Given the description of an element on the screen output the (x, y) to click on. 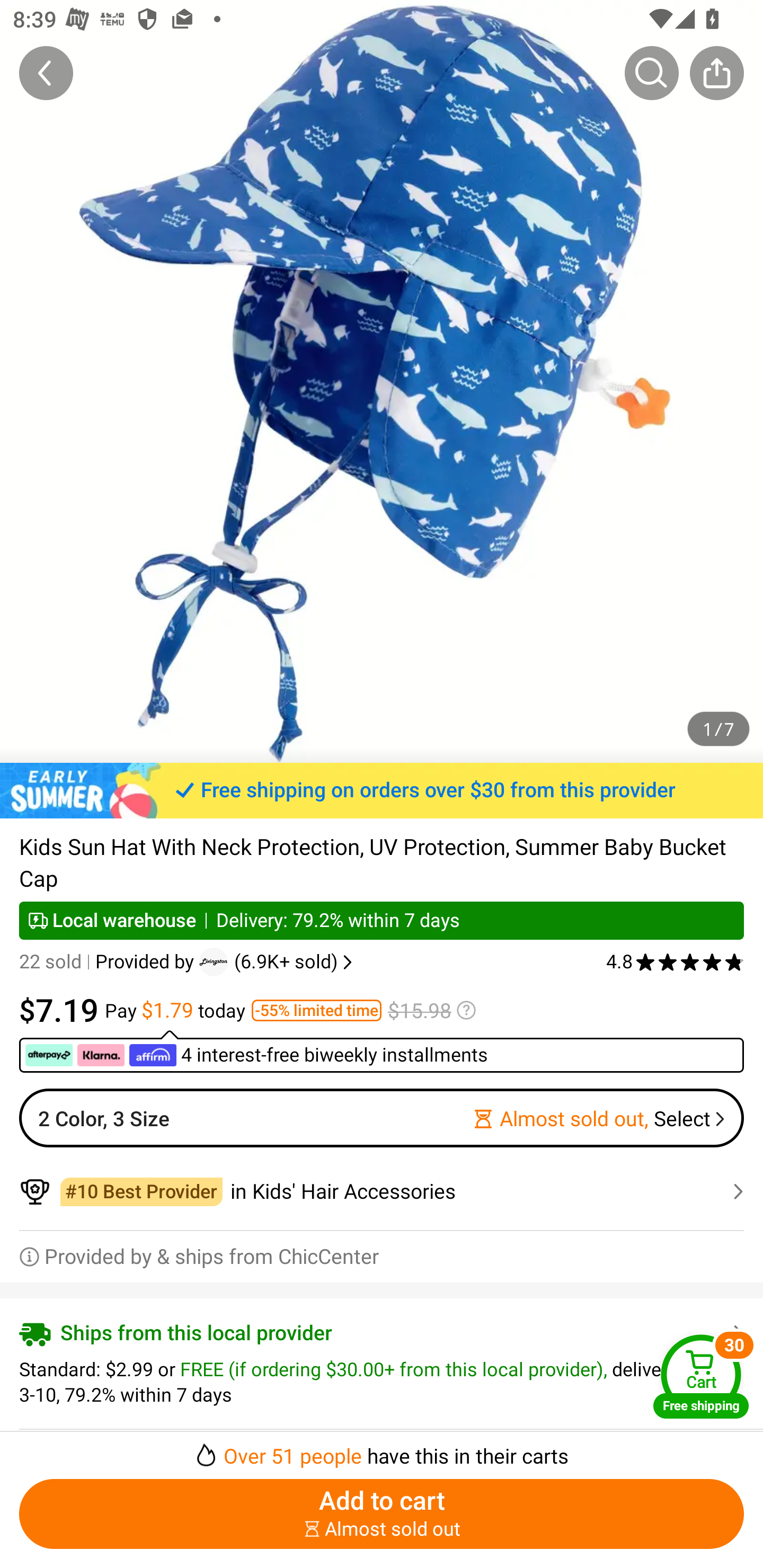
Back (46, 72)
Share (716, 72)
Local warehouse Delivery: 79.2% within 7 days (381, 920)
22 sold Provided by  (109, 961)
4.8 (674, 961)
￼ ￼ ￼ 4 interest-free biweekly installments (381, 1051)
2 Color, 3 Size   Almost sold out, Select (381, 1117)
￼￼in Kids' Hair Accessories (381, 1191)
Cart Free shipping Cart (701, 1375)
￼￼Over 51 people have this in their carts (381, 1450)
Add to cart ￼￼Almost sold out (381, 1513)
